Given the description of an element on the screen output the (x, y) to click on. 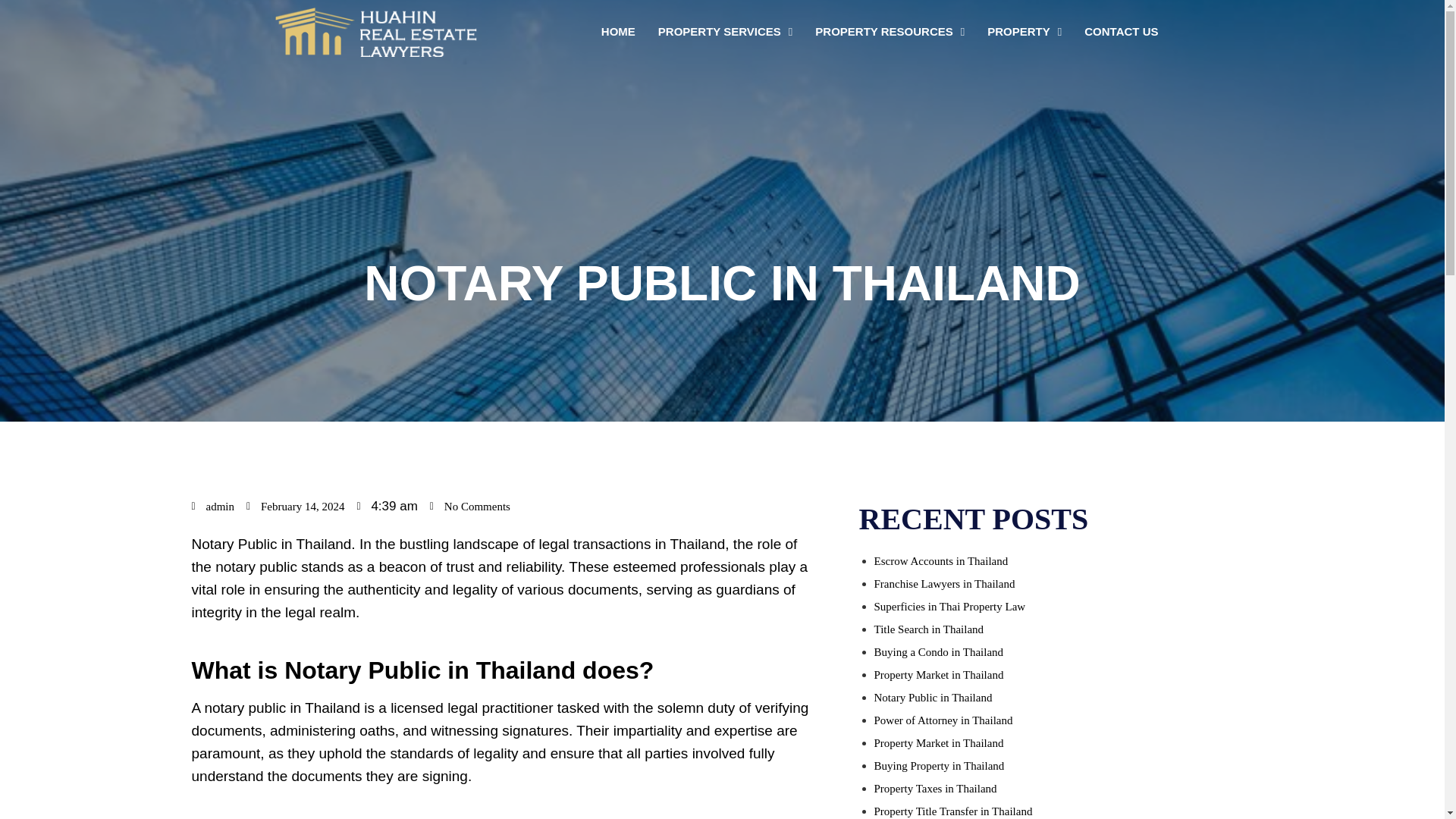
CONTACT US (1121, 31)
Property Market in Thailand (938, 674)
PROPERTY SERVICES (724, 31)
February 14, 2024 (294, 506)
HOME (617, 31)
Escrow Accounts in Thailand (940, 561)
PROPERTY (1024, 31)
Superficies in Thai Property Law (949, 606)
Title Search in Thailand (928, 629)
No Comments (470, 506)
